Given the description of an element on the screen output the (x, y) to click on. 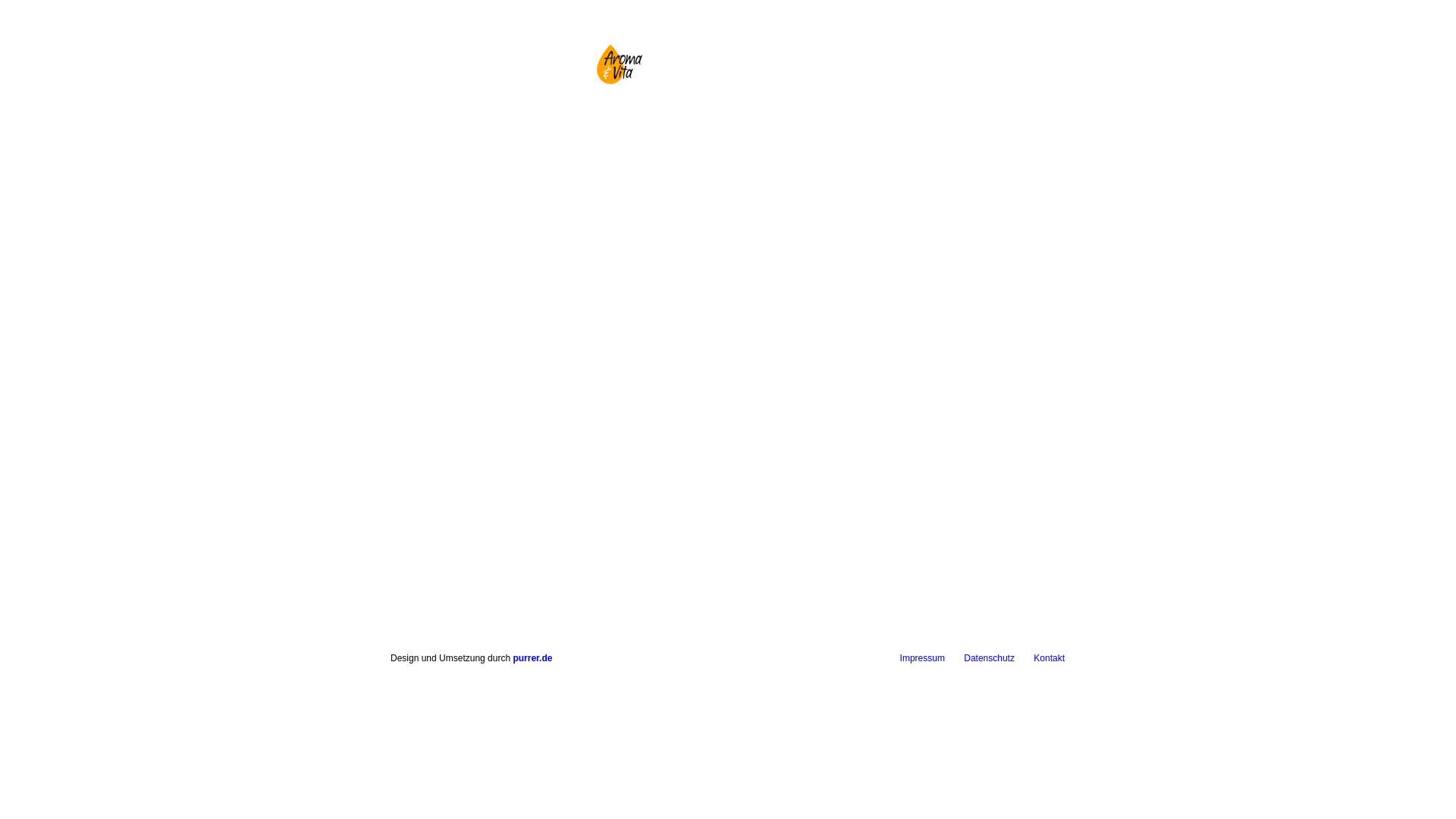
Angebote Element type: text (846, 135)
Datenschutz Element type: text (989, 657)
Aromatherapie Element type: text (545, 135)
AROMA e VITA Element type: hover (617, 63)
Start Element type: text (454, 135)
read more Element type: text (1029, 585)
read more Element type: text (791, 585)
Aromatherapie Element type: text (769, 54)
Kontakt Element type: text (991, 135)
Leistungen Element type: text (752, 135)
Impressum Element type: text (922, 657)
purrer.de Element type: text (532, 657)
Links Element type: text (922, 135)
Kontakt Element type: text (1049, 657)
